Given the description of an element on the screen output the (x, y) to click on. 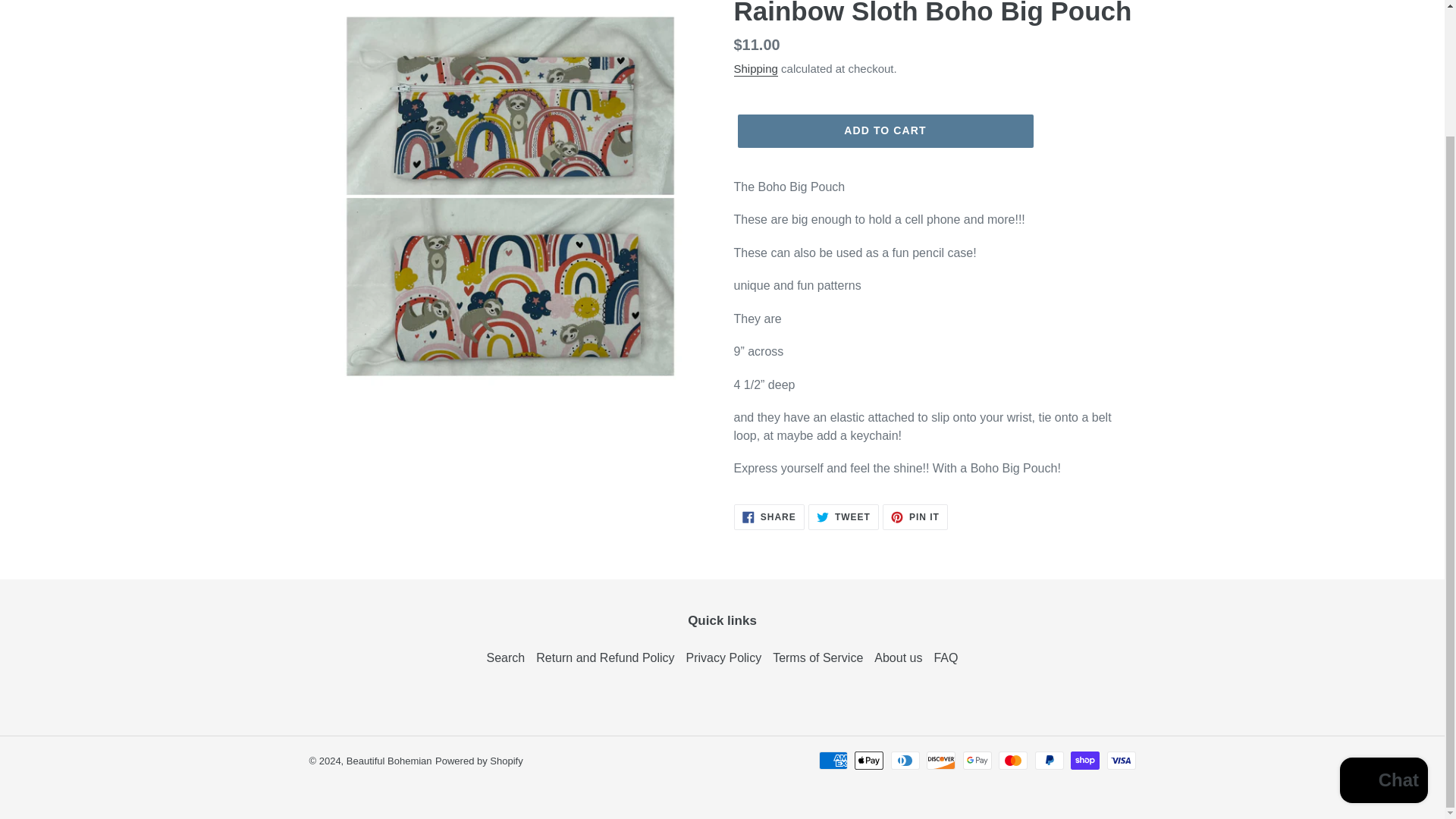
Shipping (769, 516)
ADD TO CART (755, 69)
Shopify online store chat (884, 131)
